Given the description of an element on the screen output the (x, y) to click on. 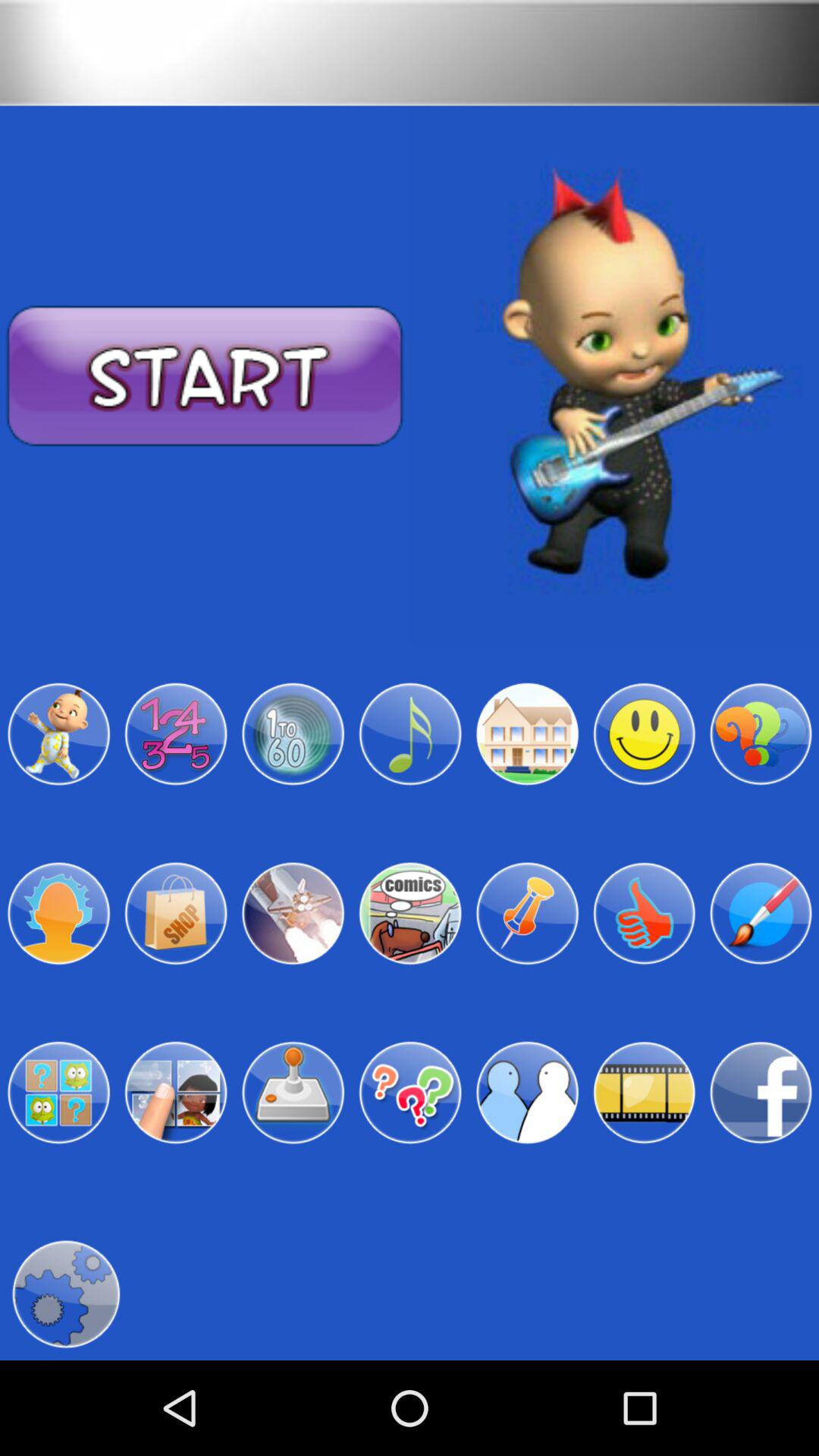
edit colors (760, 913)
